Given the description of an element on the screen output the (x, y) to click on. 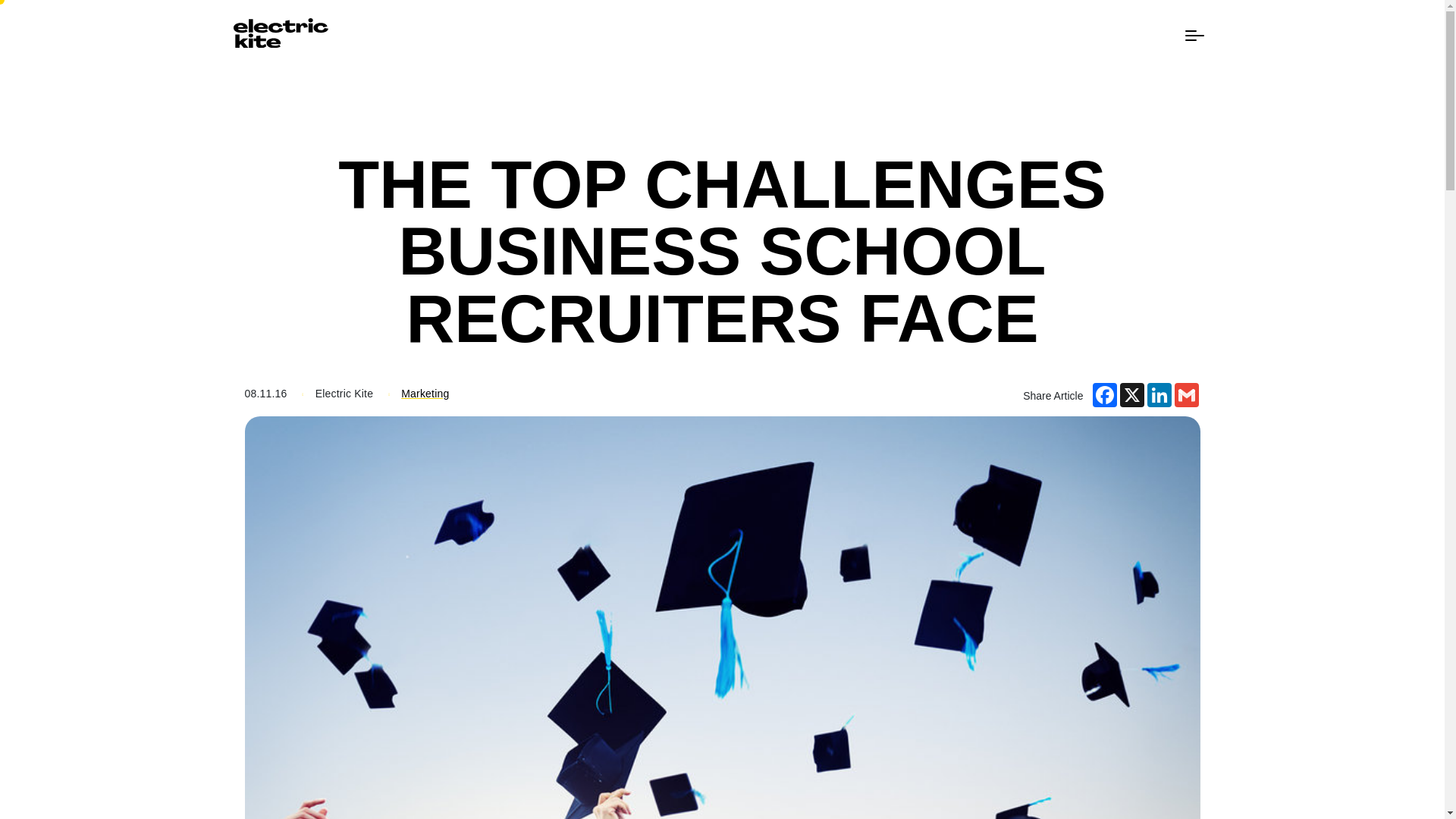
Facebook (1104, 395)
LinkedIn (1158, 395)
Gmail (1185, 395)
X (1131, 395)
Menu Button (1193, 35)
Marketing (424, 393)
